Given the description of an element on the screen output the (x, y) to click on. 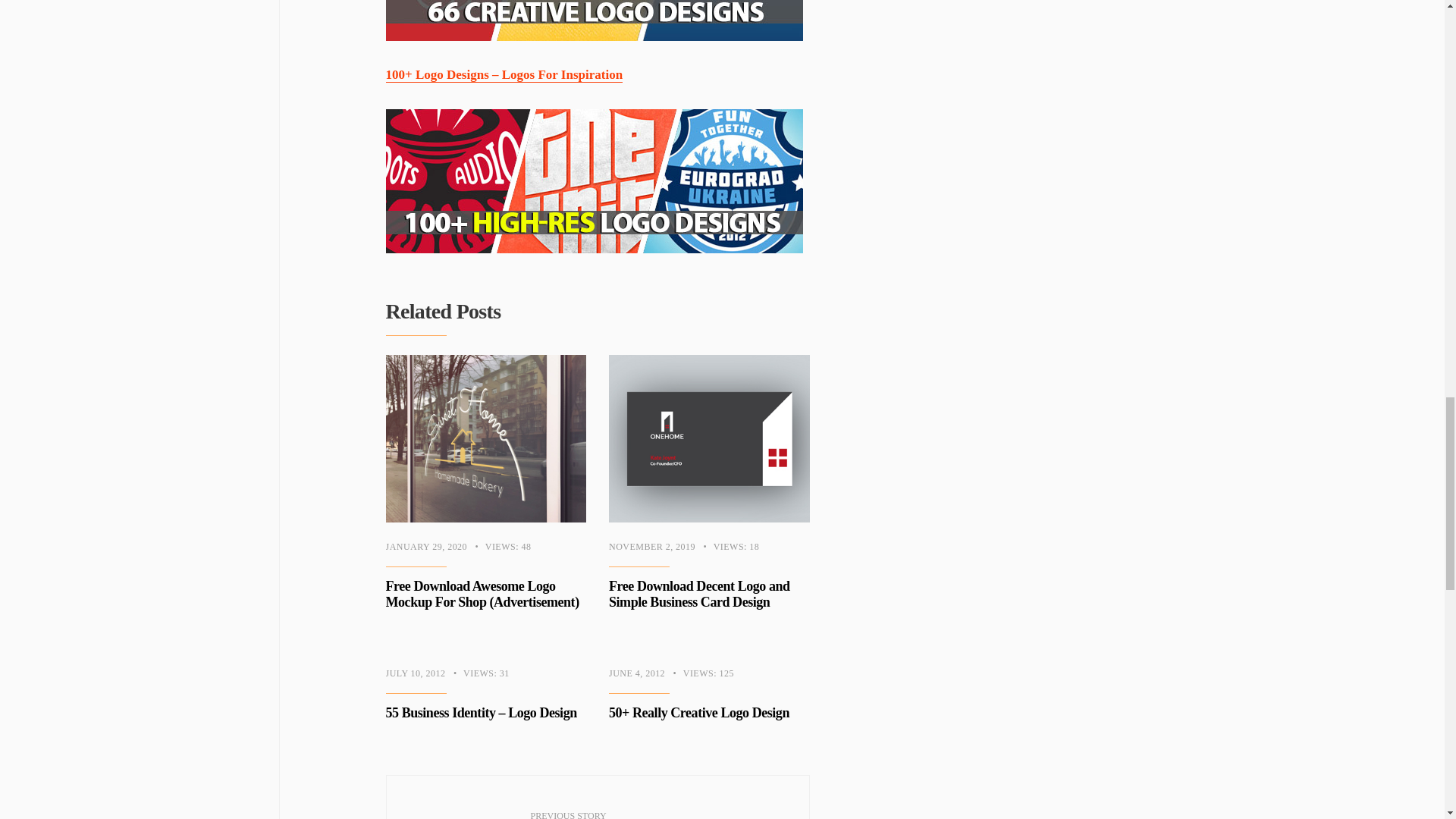
66 Creative Logo Designs For Inspiration (593, 20)
